Given the description of an element on the screen output the (x, y) to click on. 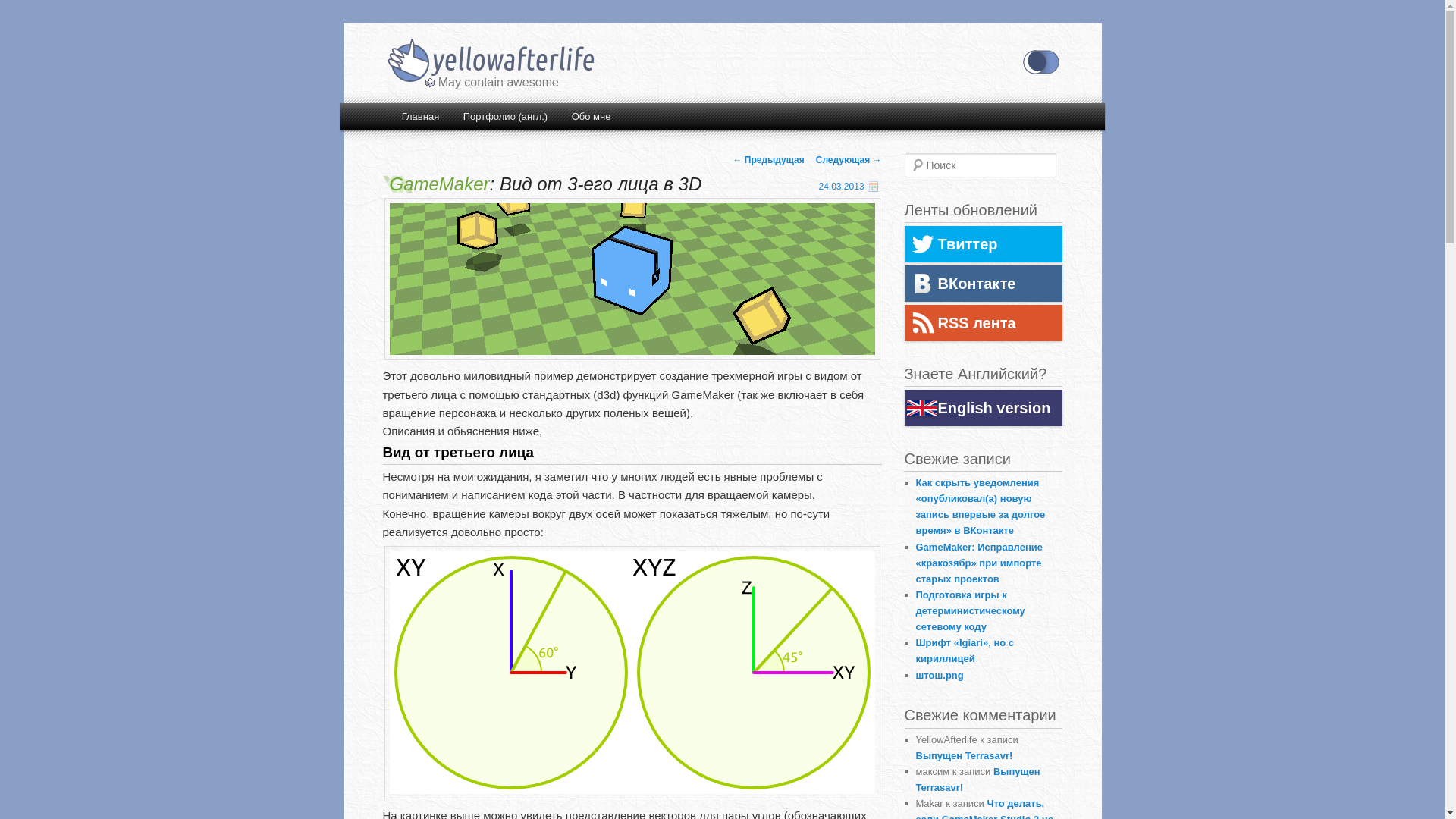
Posted at Element type: hover (872, 186)
24.03.2013 Element type: text (841, 186)
YellowAfterlife Element type: text (489, 61)
English version Element type: text (982, 407)
Toggle night mode Element type: hover (1040, 62)
